Given the description of an element on the screen output the (x, y) to click on. 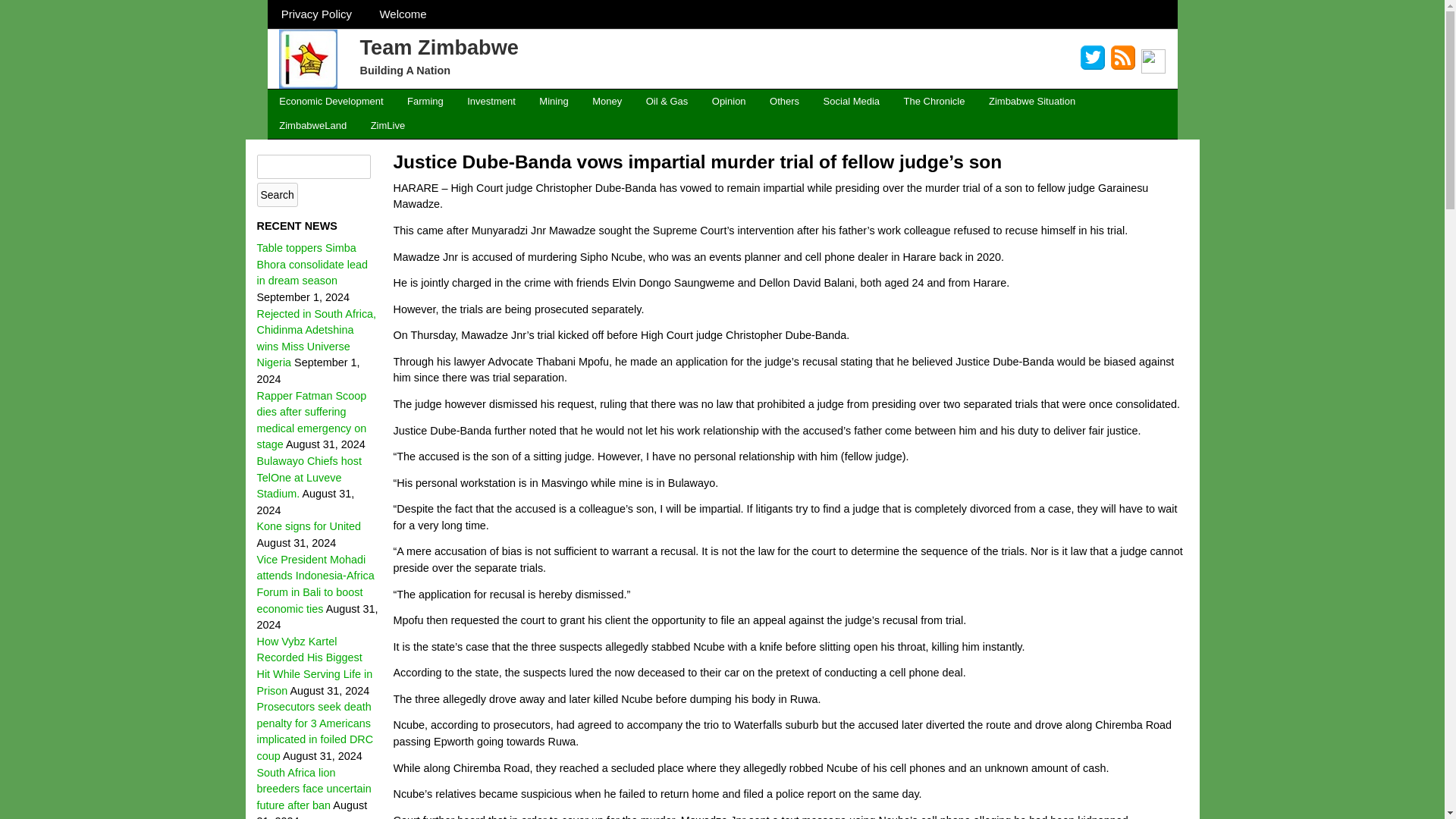
Search (276, 193)
Zimbabwe Situation (1031, 101)
Welcome (403, 14)
Team Zimbabwe (438, 46)
Table toppers Simba Bhora consolidate lead in dream season (311, 263)
Money (606, 101)
Kone signs for United (308, 526)
Others (783, 101)
Economic Development (330, 101)
